Given the description of an element on the screen output the (x, y) to click on. 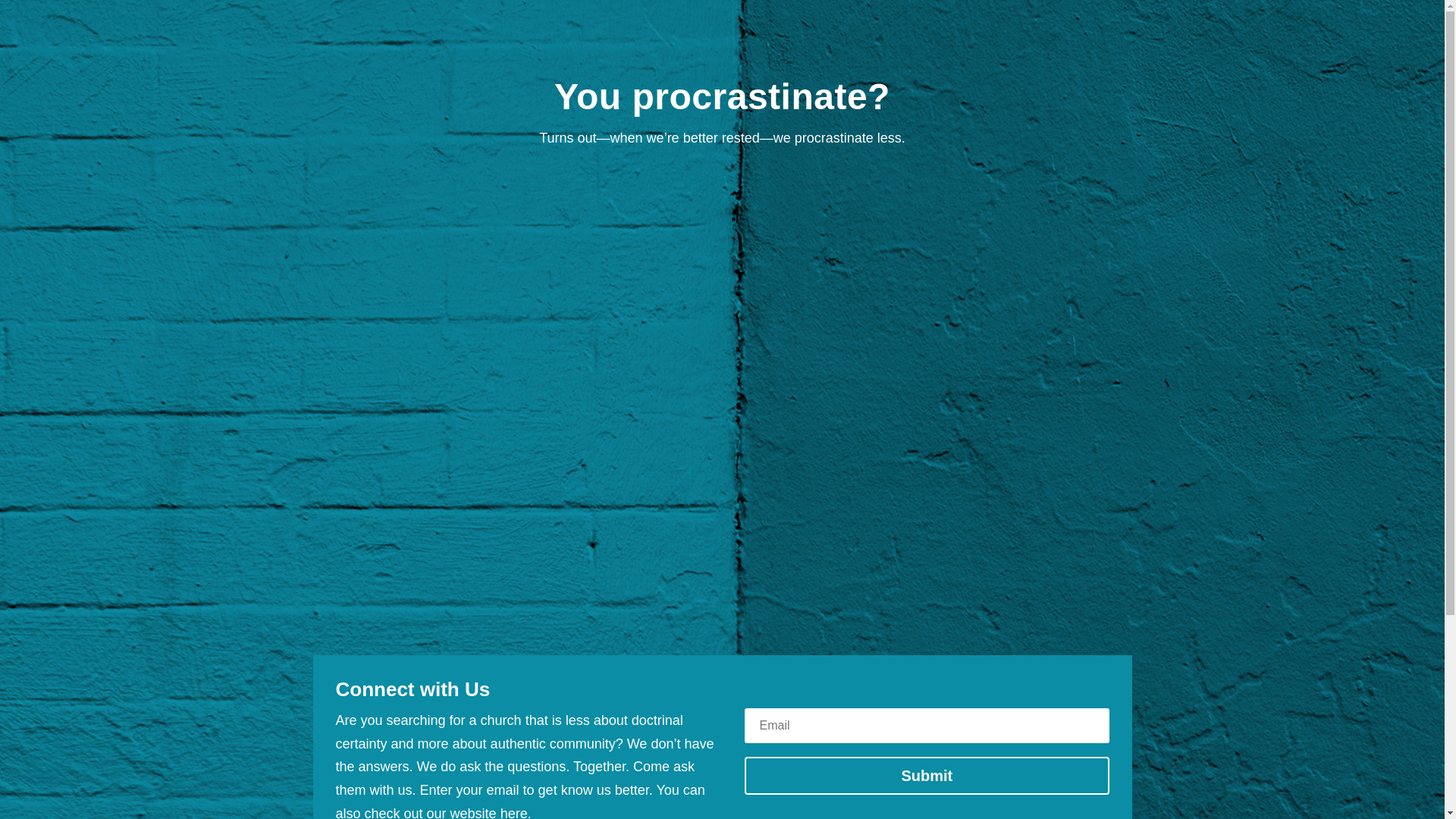
check out our website here (446, 812)
Submit (926, 775)
